Given the description of an element on the screen output the (x, y) to click on. 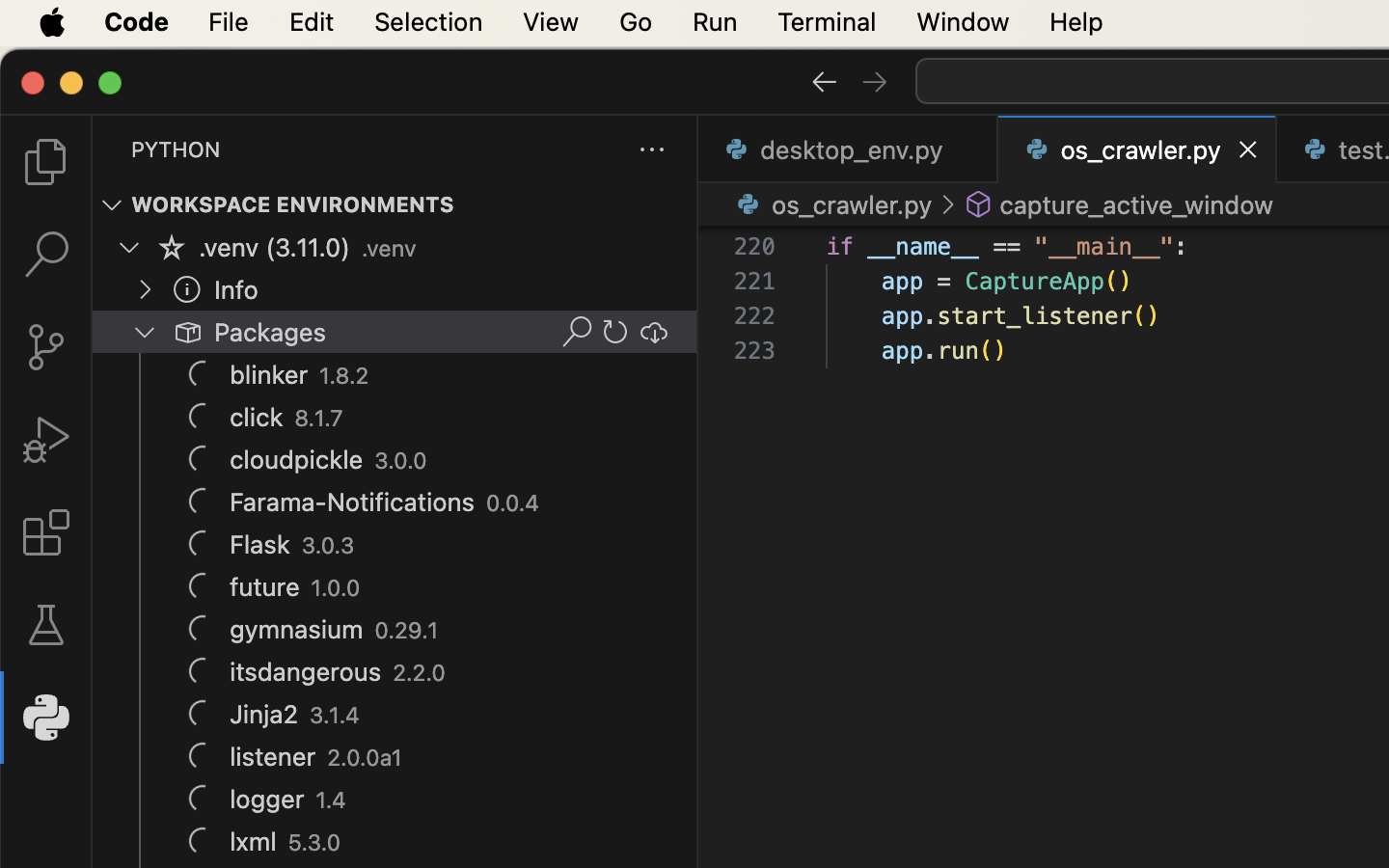
 Element type: AXButton (874, 80)
 Element type: AXButton (576, 331)
 Element type: AXGroup (46, 624)
 Element type: AXStaticText (111, 204)
cloudpickle Element type: AXStaticText (296, 459)
